Given the description of an element on the screen output the (x, y) to click on. 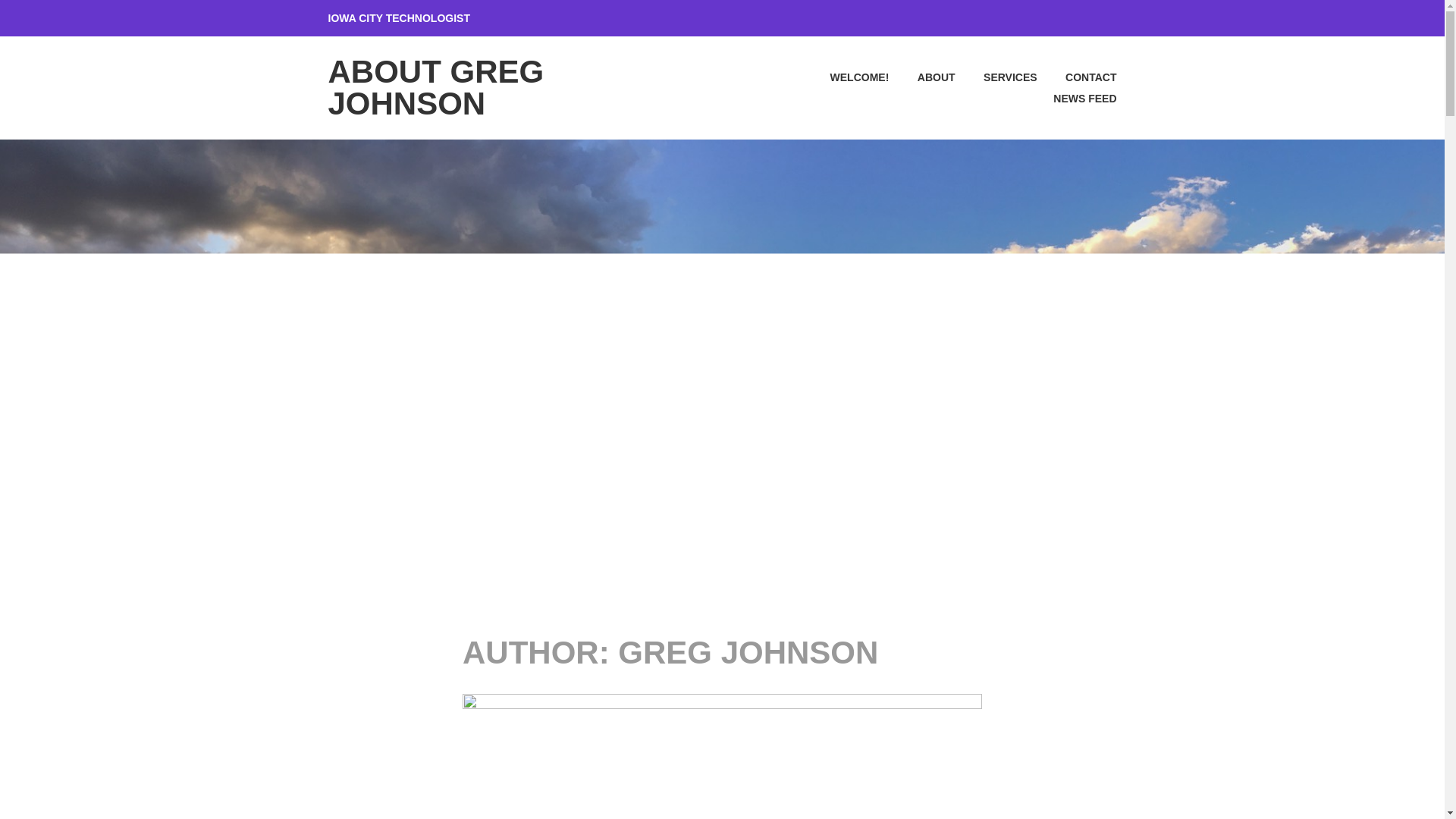
SERVICES (997, 76)
WELCOME! (846, 76)
LINKEDIN (988, 16)
YOUTUBE (1106, 16)
ABOUT (923, 76)
FACEBOOK (929, 16)
CONTACT (1078, 76)
TUMBLR (1048, 16)
TWITTER (1077, 16)
PINTEREST (1018, 16)
ABOUT GREG JOHNSON (435, 87)
NEWS FEED (1071, 97)
INSTAGRAM (959, 16)
